Given the description of an element on the screen output the (x, y) to click on. 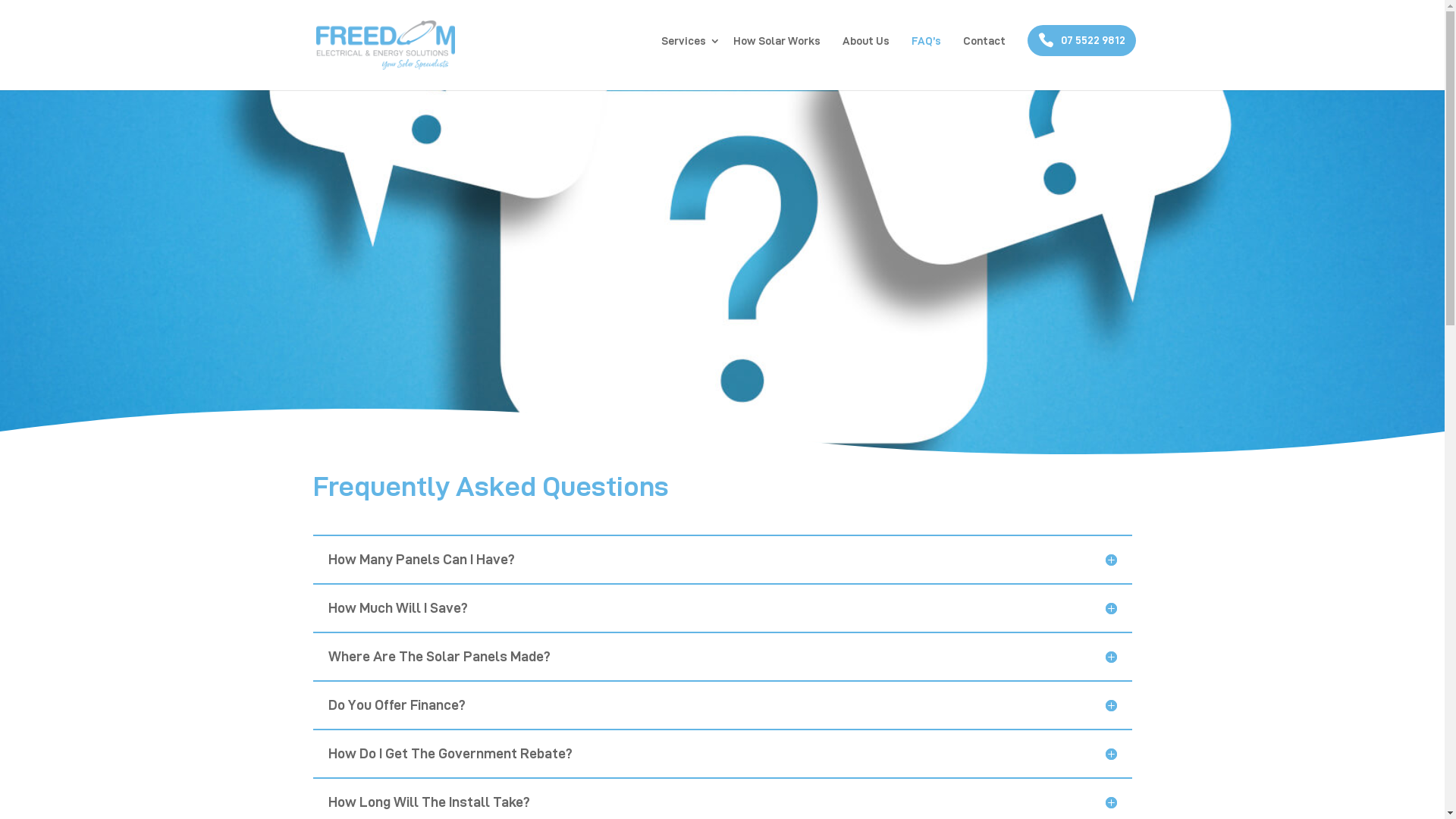
07 5522 9812 Element type: text (1080, 40)
About Us Element type: text (865, 53)
Services Element type: text (685, 53)
Contact Element type: text (983, 53)
How Solar Works Element type: text (776, 53)
